Given the description of an element on the screen output the (x, y) to click on. 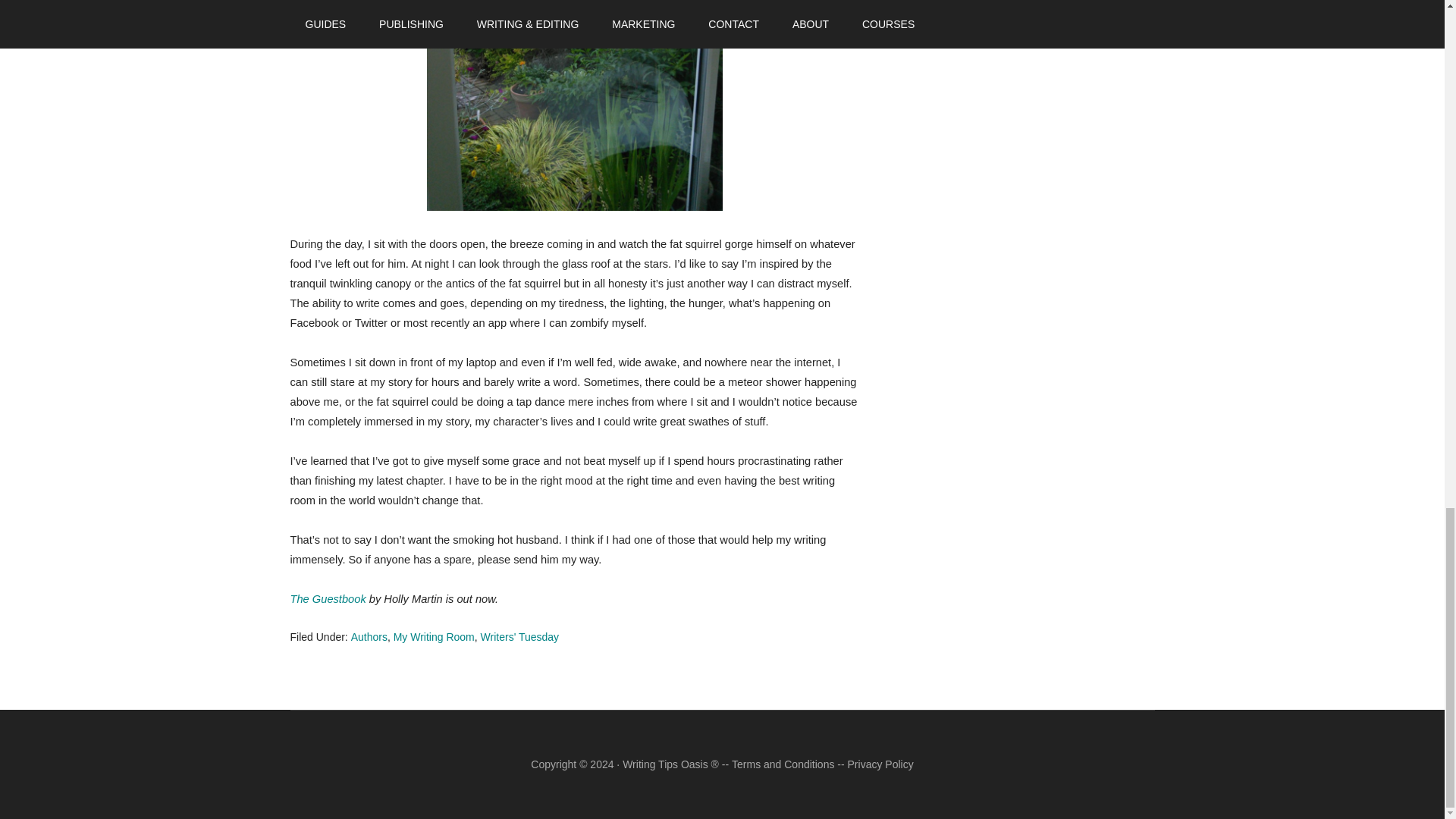
Holly Martin's Writing Room (574, 107)
Terms and Conditions (783, 764)
Authors (368, 636)
My Writing Room (433, 636)
Privacy Policy (880, 764)
The Guestbook (327, 598)
Writers' Tuesday (519, 636)
The Guestbook by Holly Martin (327, 598)
